Given the description of an element on the screen output the (x, y) to click on. 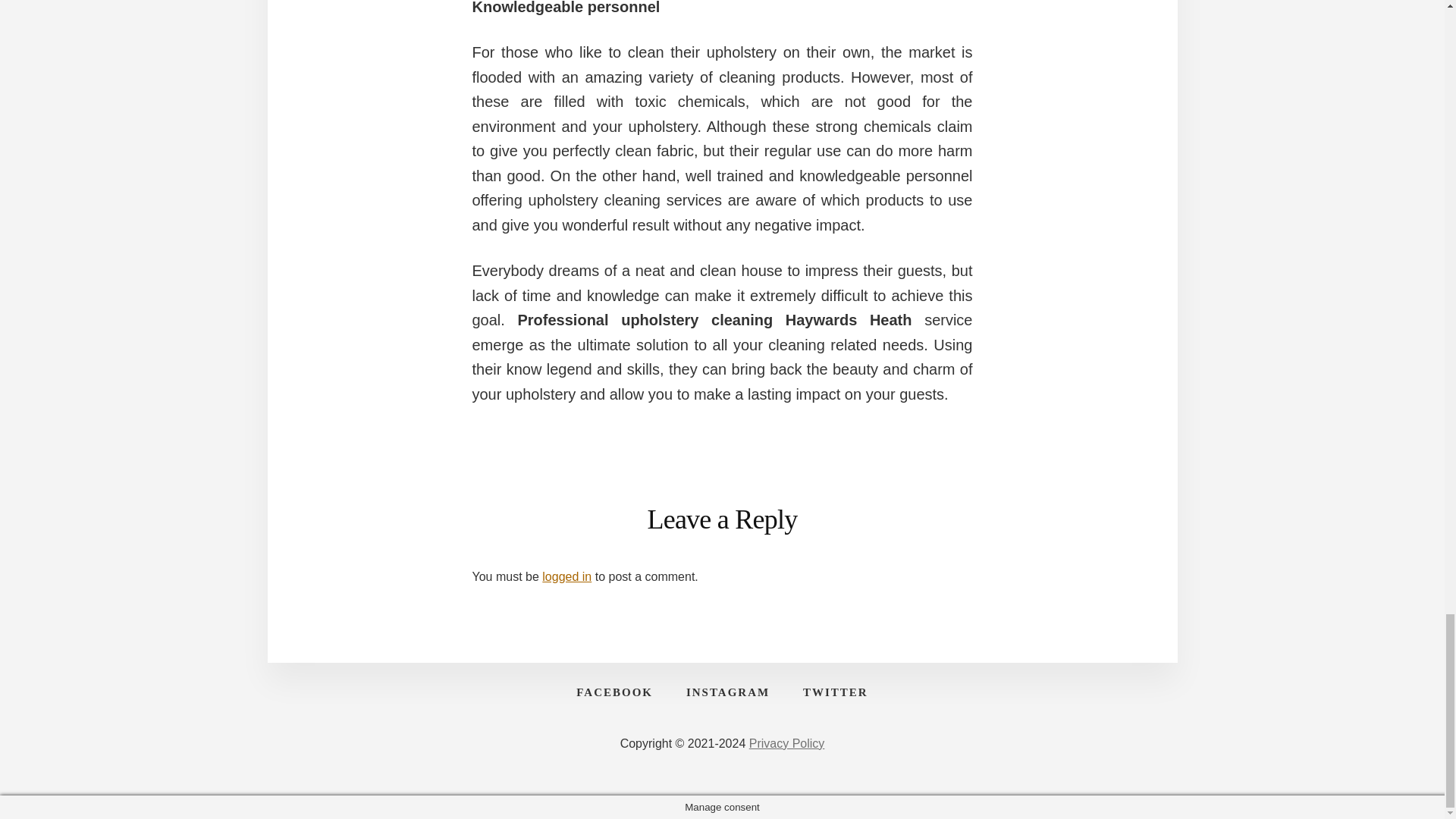
TWITTER (835, 692)
Privacy Policy (787, 743)
logged in (566, 576)
INSTAGRAM (727, 692)
FACEBOOK (614, 692)
